Given the description of an element on the screen output the (x, y) to click on. 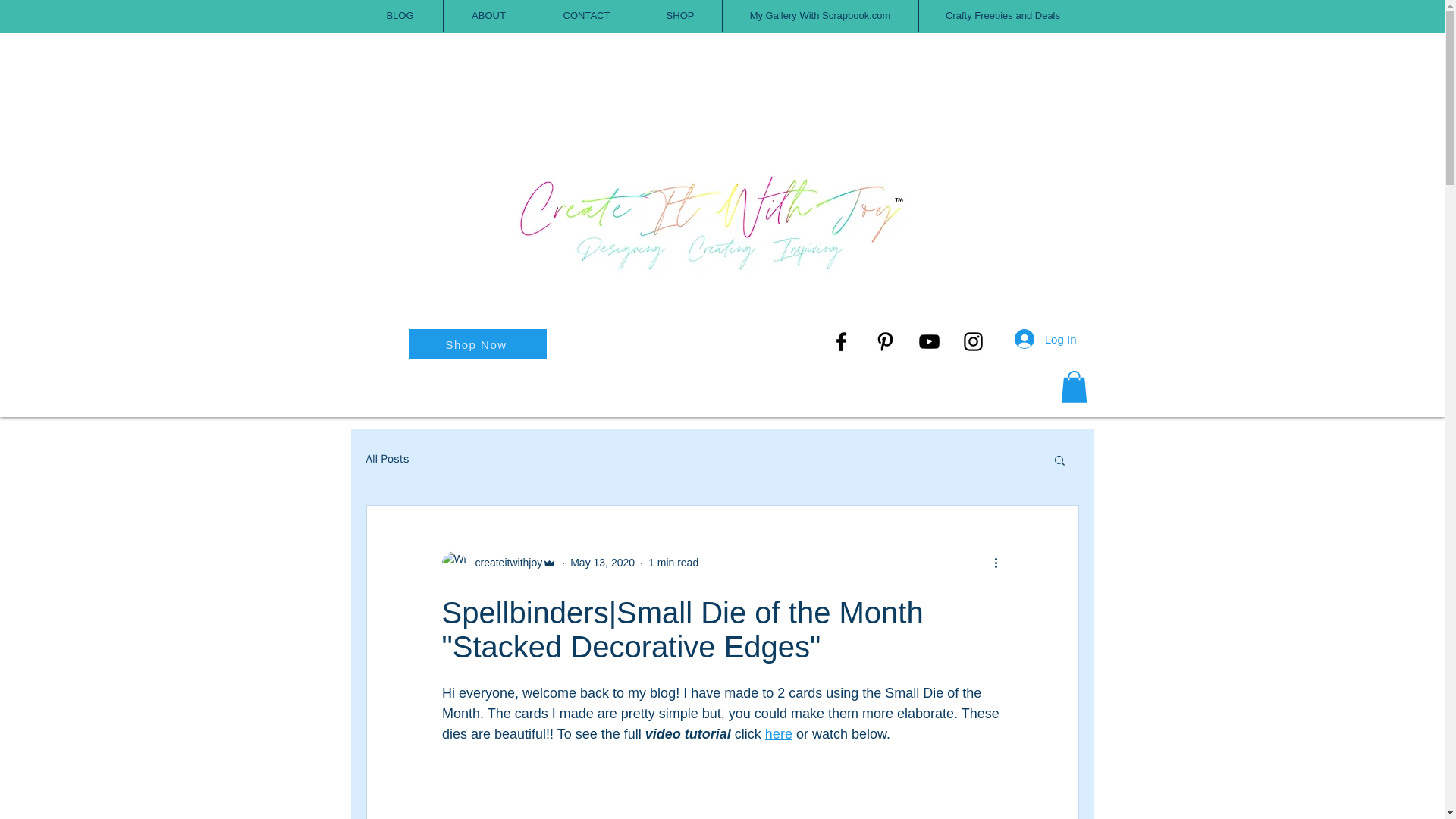
Log In (1045, 338)
May 13, 2020 (602, 562)
1 min read (672, 562)
here (778, 734)
Shop Now (478, 344)
My Gallery With Scrapbook.com (819, 15)
BLOG (400, 15)
createitwithjoy (503, 562)
SHOP (679, 15)
Crafty Freebies and Deals (1002, 15)
